Given the description of an element on the screen output the (x, y) to click on. 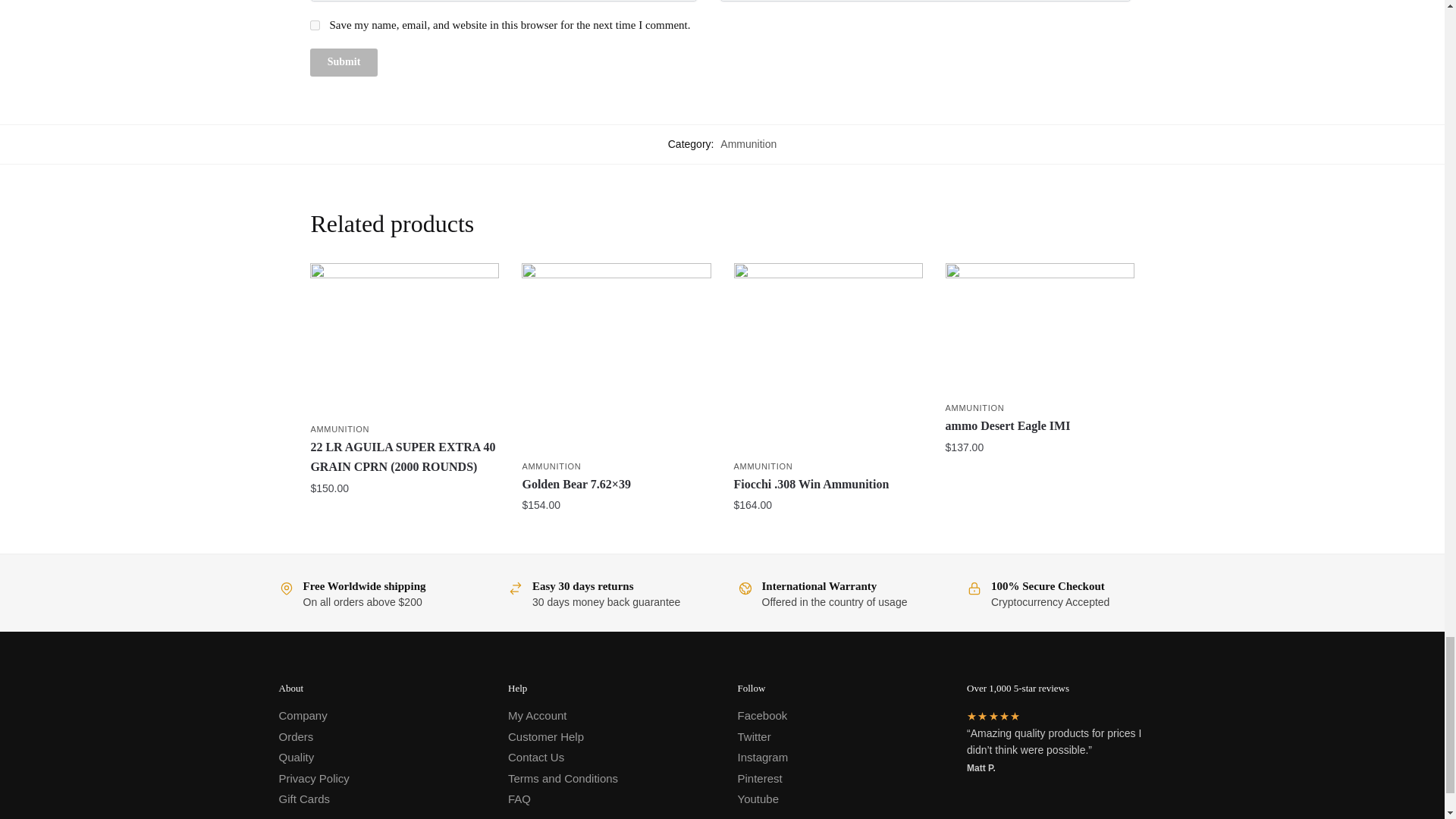
Submit (343, 62)
yes (315, 25)
